Given the description of an element on the screen output the (x, y) to click on. 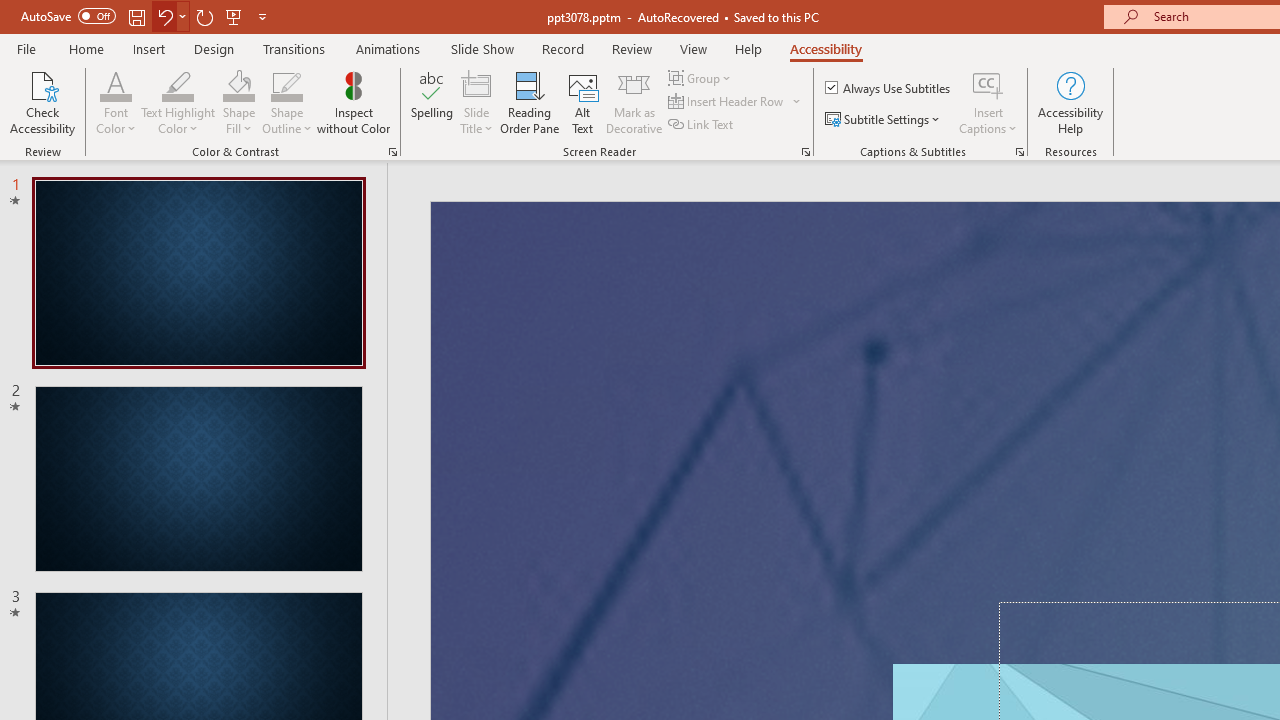
Always Use Subtitles (889, 87)
Inspect without Color (353, 102)
Group (701, 78)
Reading Order Pane (529, 102)
